Given the description of an element on the screen output the (x, y) to click on. 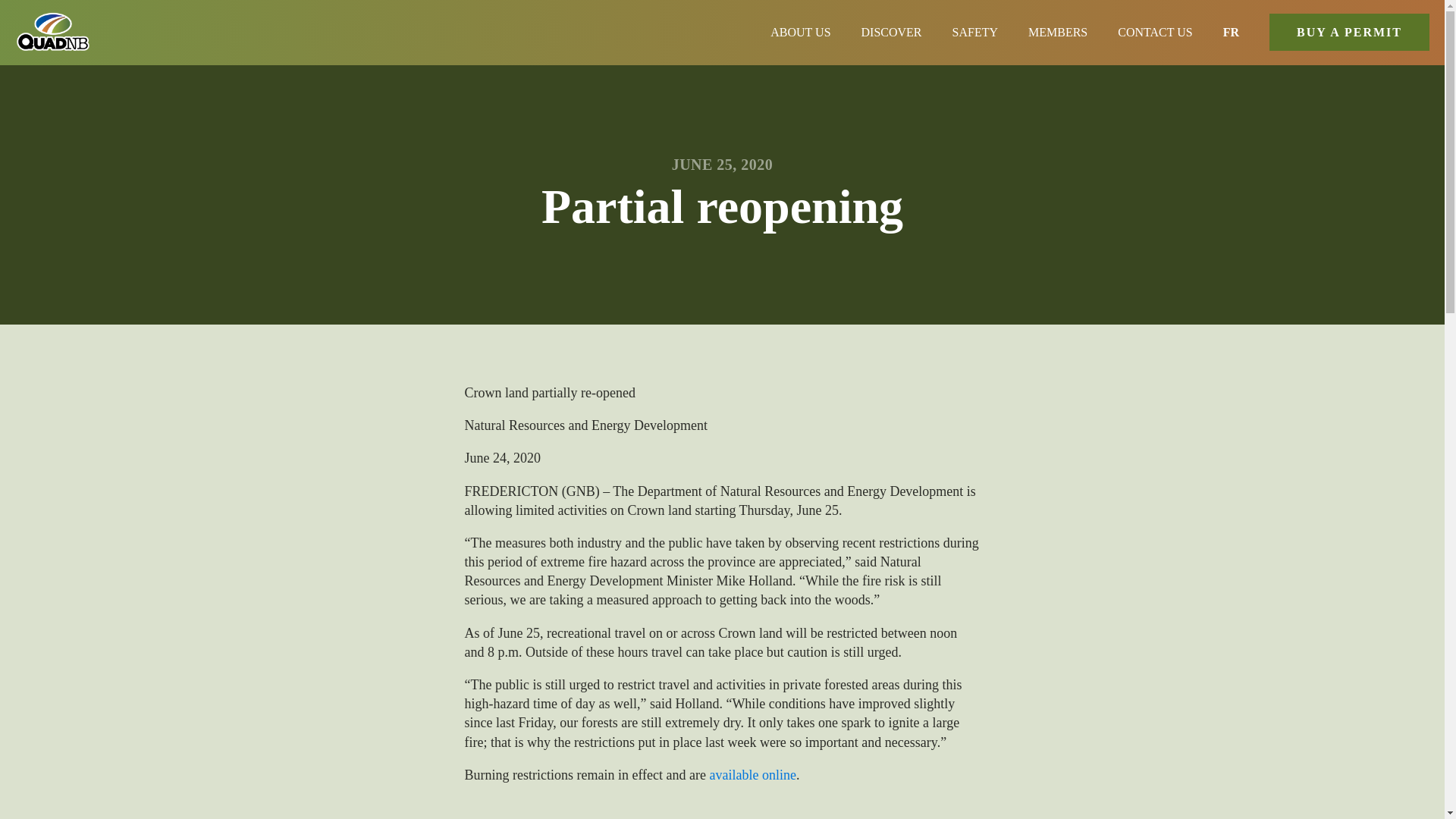
ABOUT US (800, 32)
BUY A PERMIT (1349, 31)
CONTACT US (1154, 32)
DISCOVER (891, 32)
available online (753, 774)
SAFETY (975, 32)
MEMBERS (1057, 32)
